Given the description of an element on the screen output the (x, y) to click on. 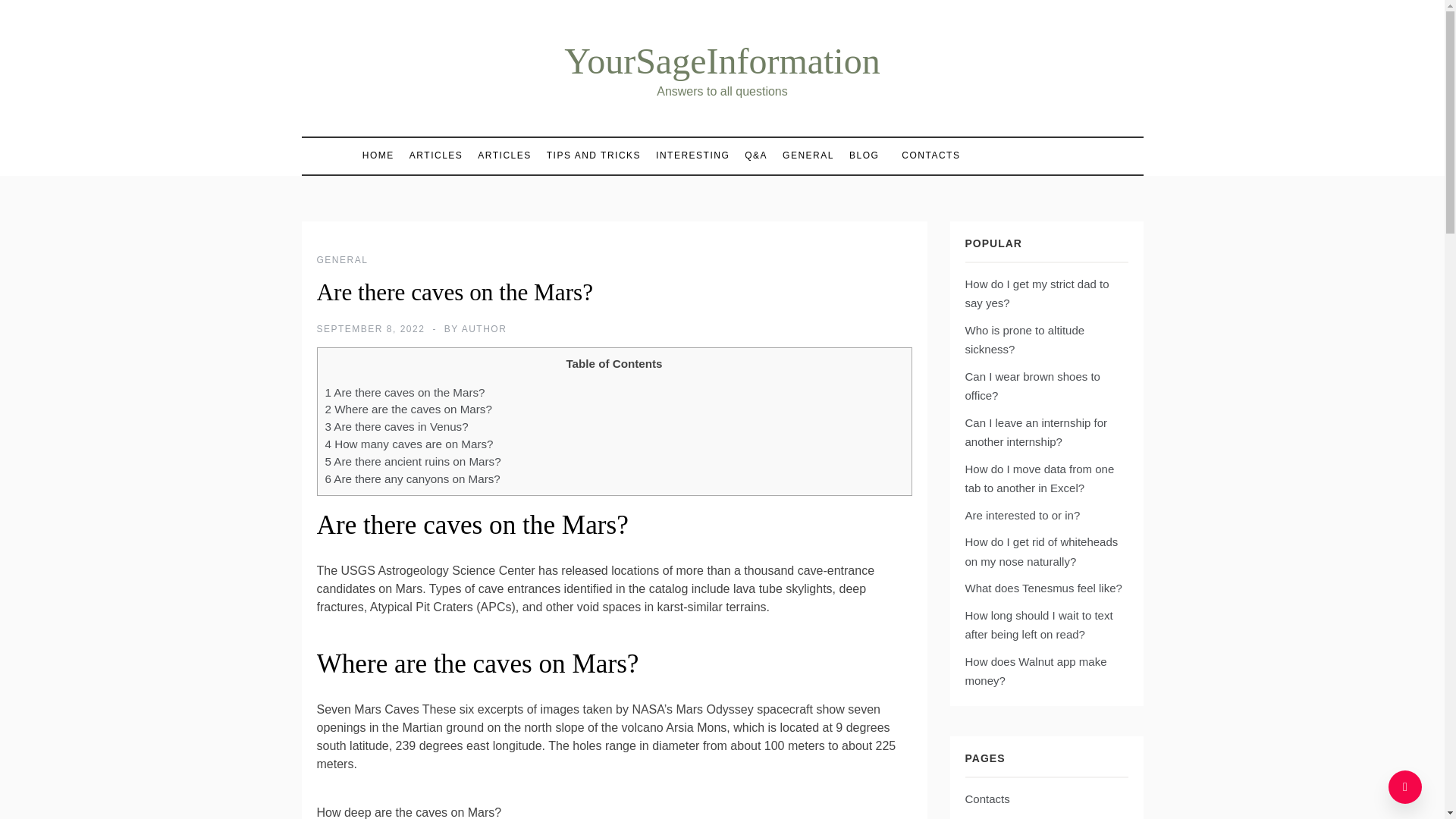
4 How many caves are on Mars? (408, 443)
CONTACTS (922, 155)
TIPS AND TRICKS (592, 155)
GENERAL (342, 259)
GENERAL (807, 155)
Go to Top (1405, 786)
Can I wear brown shoes to office? (1031, 386)
ARTICLES (435, 155)
How do I get rid of whiteheads on my nose naturally? (1040, 551)
3 Are there caves in Venus? (395, 426)
